Given the description of an element on the screen output the (x, y) to click on. 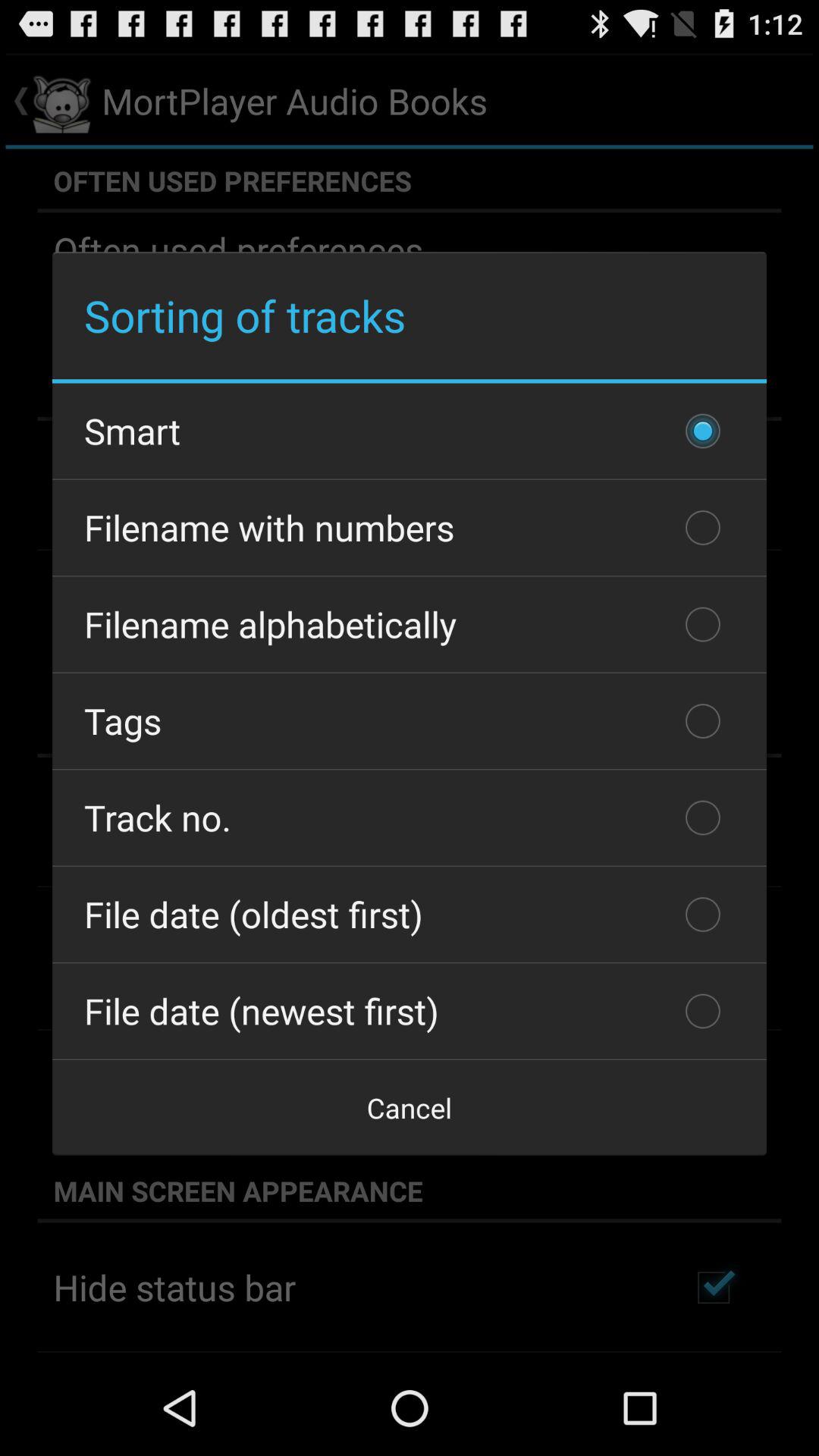
flip until the cancel icon (409, 1107)
